Given the description of an element on the screen output the (x, y) to click on. 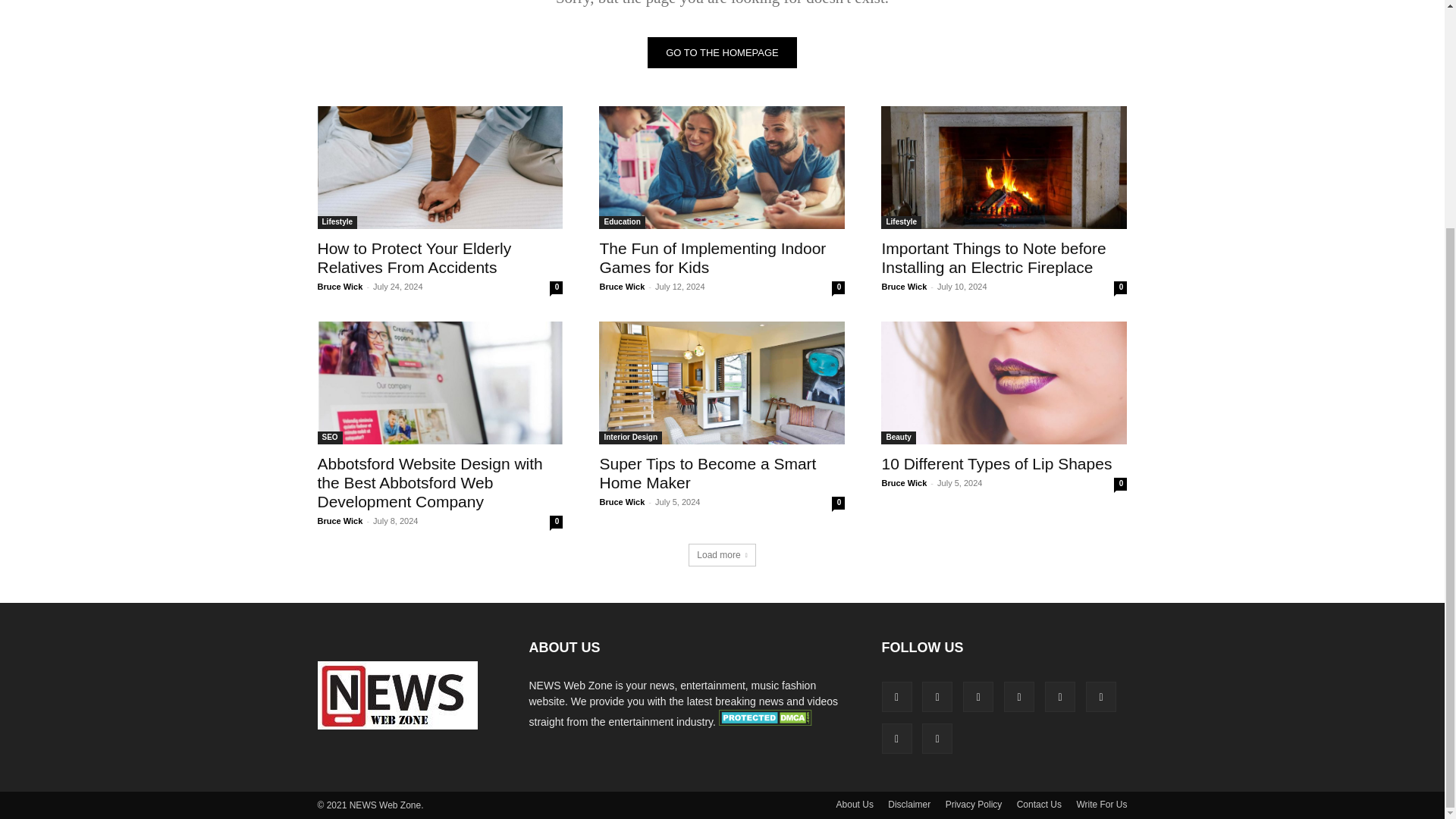
Go to the homepage (721, 51)
The Fun of Implementing Indoor Games for Kids (721, 167)
How to Protect Your Elderly Relatives From Accidents (439, 167)
The Fun of Implementing Indoor Games for Kids (711, 257)
How to Protect Your Elderly Relatives From Accidents (414, 257)
